Given the description of an element on the screen output the (x, y) to click on. 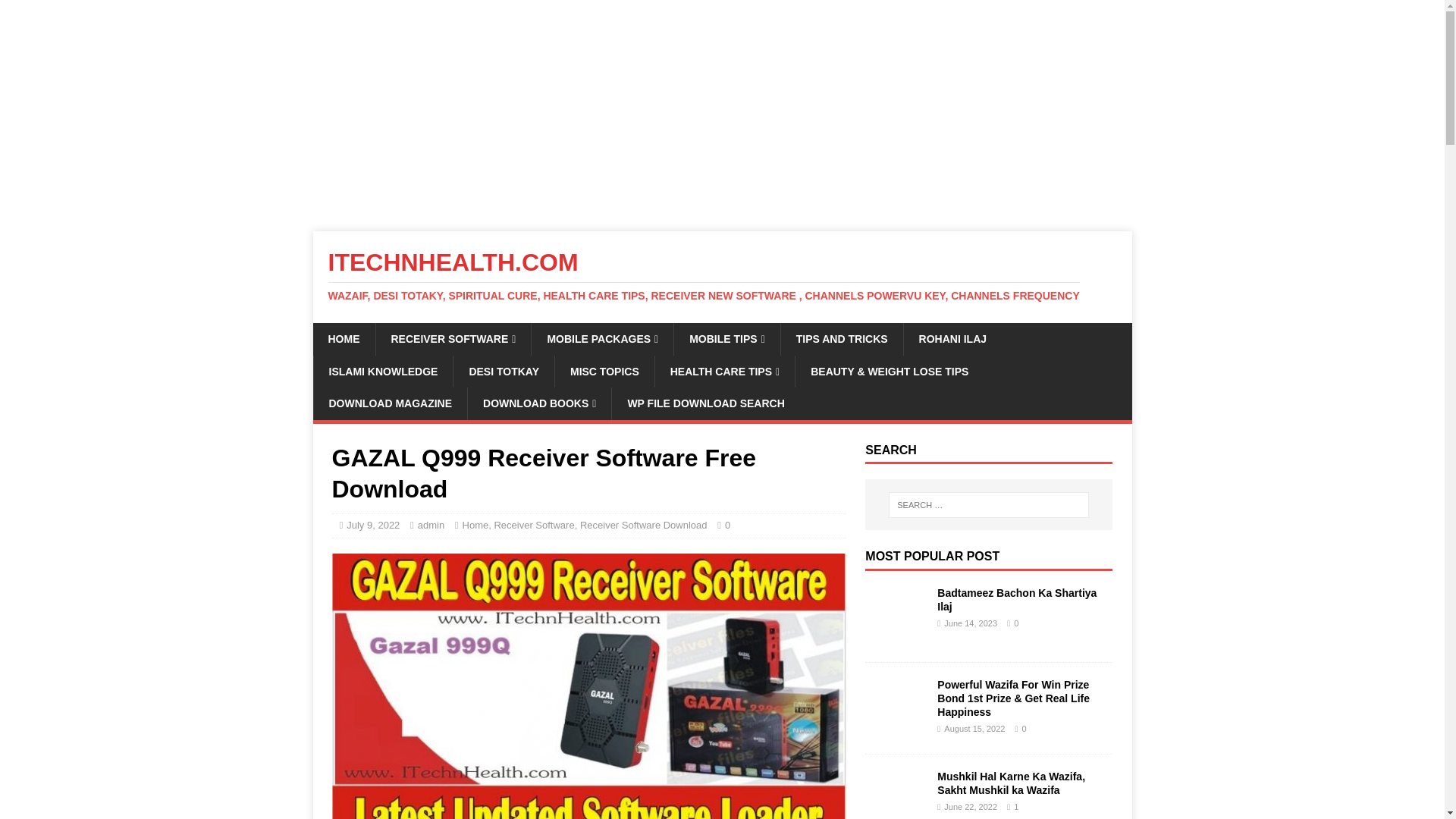
RECEIVER SOFTWARE (452, 338)
WP FILE DOWNLOAD SEARCH (705, 403)
MISC TOPICS (603, 371)
MOBILE TIPS (726, 338)
DOWNLOAD BOOKS (539, 403)
Receiver Software (533, 524)
admin (430, 524)
0 (727, 524)
MOBILE PACKAGES (601, 338)
ROHANI ILAJ (951, 338)
iTechnHealth.com (721, 276)
July 9, 2022 (372, 524)
DOWNLOAD MAGAZINE (390, 403)
